Given the description of an element on the screen output the (x, y) to click on. 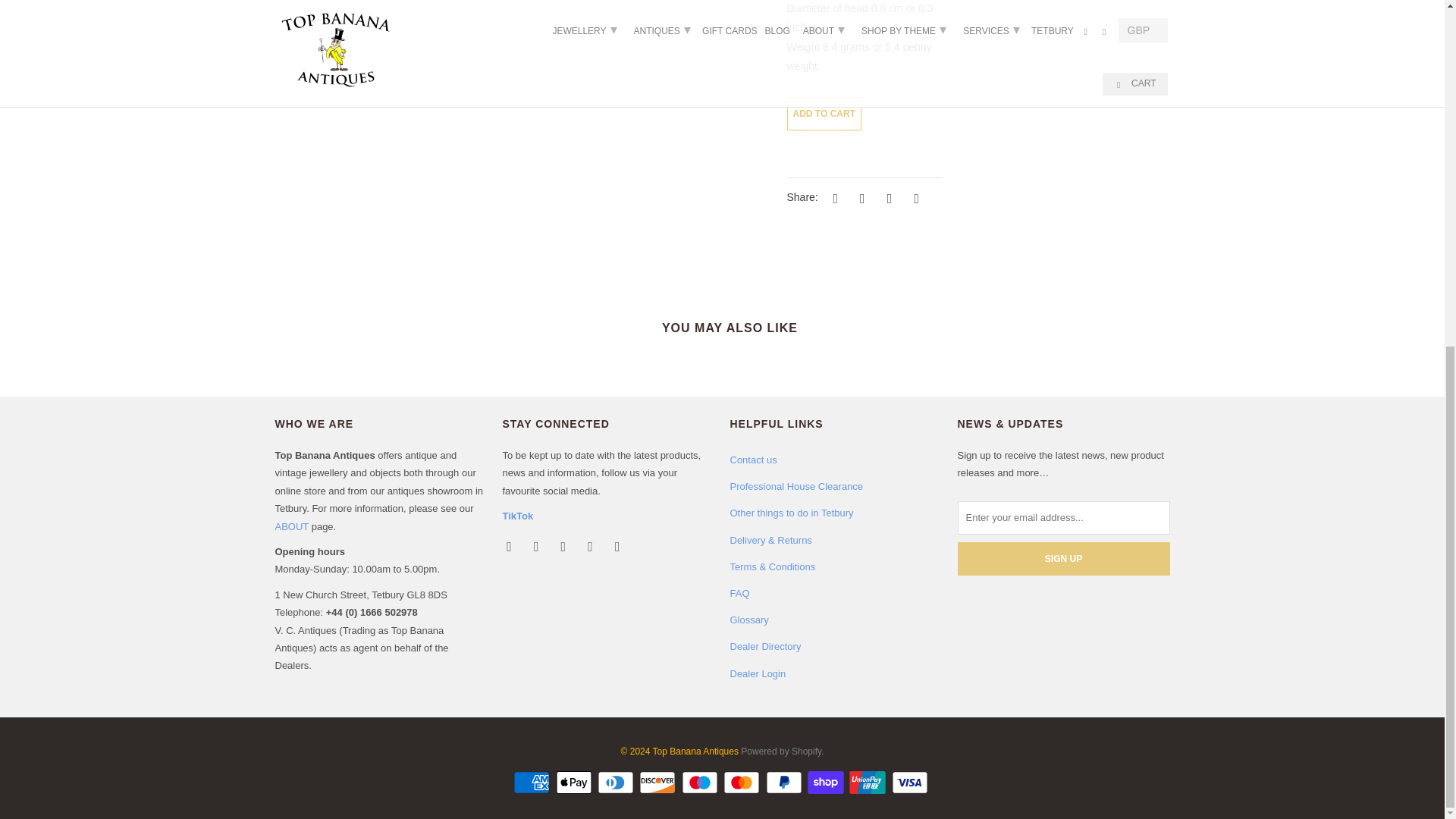
Sign Up (1062, 558)
Apple Pay (575, 782)
Visa (911, 782)
Union Pay (868, 782)
Diners Club (616, 782)
Shop Pay (827, 782)
Mastercard (742, 782)
Maestro (700, 782)
American Express (533, 782)
Discover (658, 782)
